Given the description of an element on the screen output the (x, y) to click on. 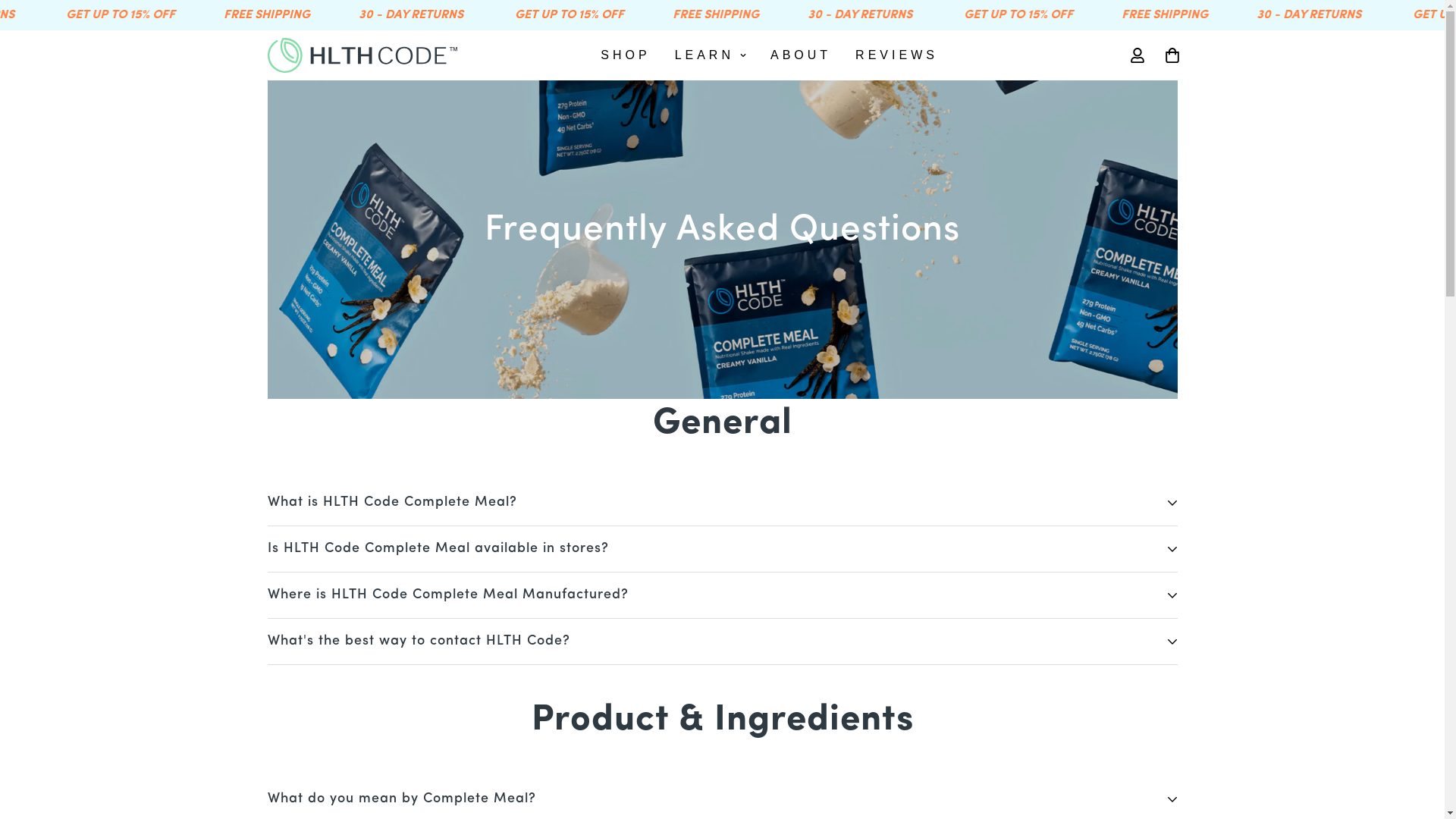
gethlth Element type: hover (361, 55)
ABOUT Element type: text (800, 54)
SHOP Element type: text (625, 54)
REVIEWS Element type: text (896, 54)
LEARN Element type: text (710, 54)
